Given the description of an element on the screen output the (x, y) to click on. 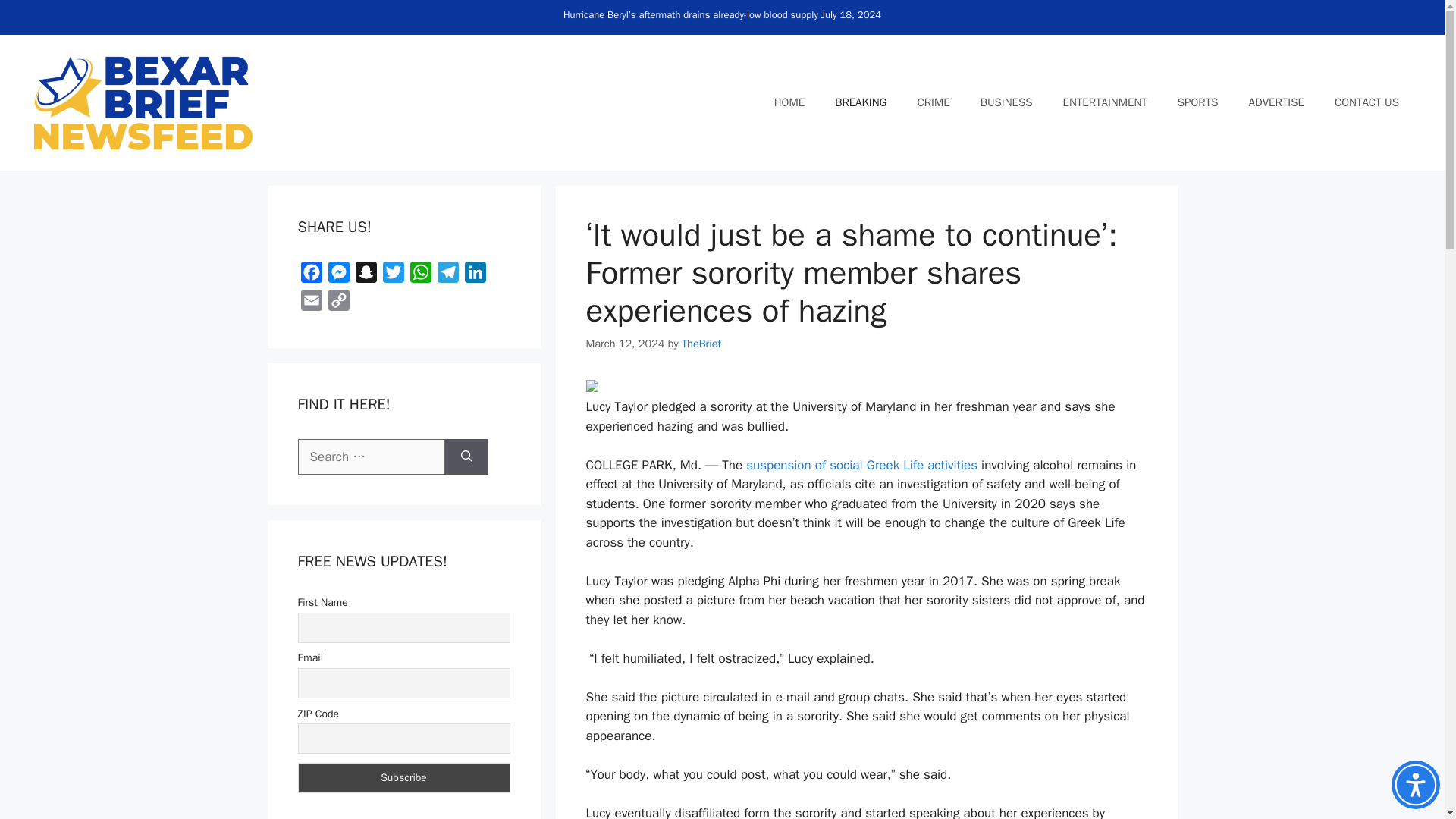
View all posts by TheBrief (700, 343)
San Antonio Sports News (1197, 102)
San Antonio Advertising (1276, 102)
San Antonio Crime Reports (932, 102)
suspension of social Greek Life activities (860, 465)
CONTACT US (1366, 102)
San Antonio Entertainment (1104, 102)
Snapchat (365, 275)
ENTERTAINMENT (1104, 102)
SPORTS (1197, 102)
BREAKING (860, 102)
ADVERTISE (1276, 102)
Facebook (310, 275)
San Antonio Business News (1006, 102)
TheBrief (700, 343)
